Given the description of an element on the screen output the (x, y) to click on. 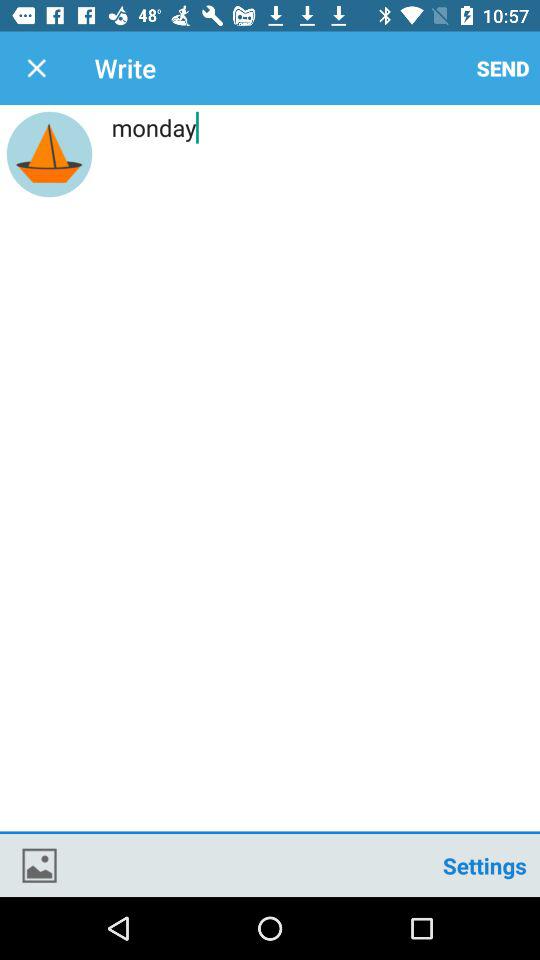
jump to send (503, 67)
